Given the description of an element on the screen output the (x, y) to click on. 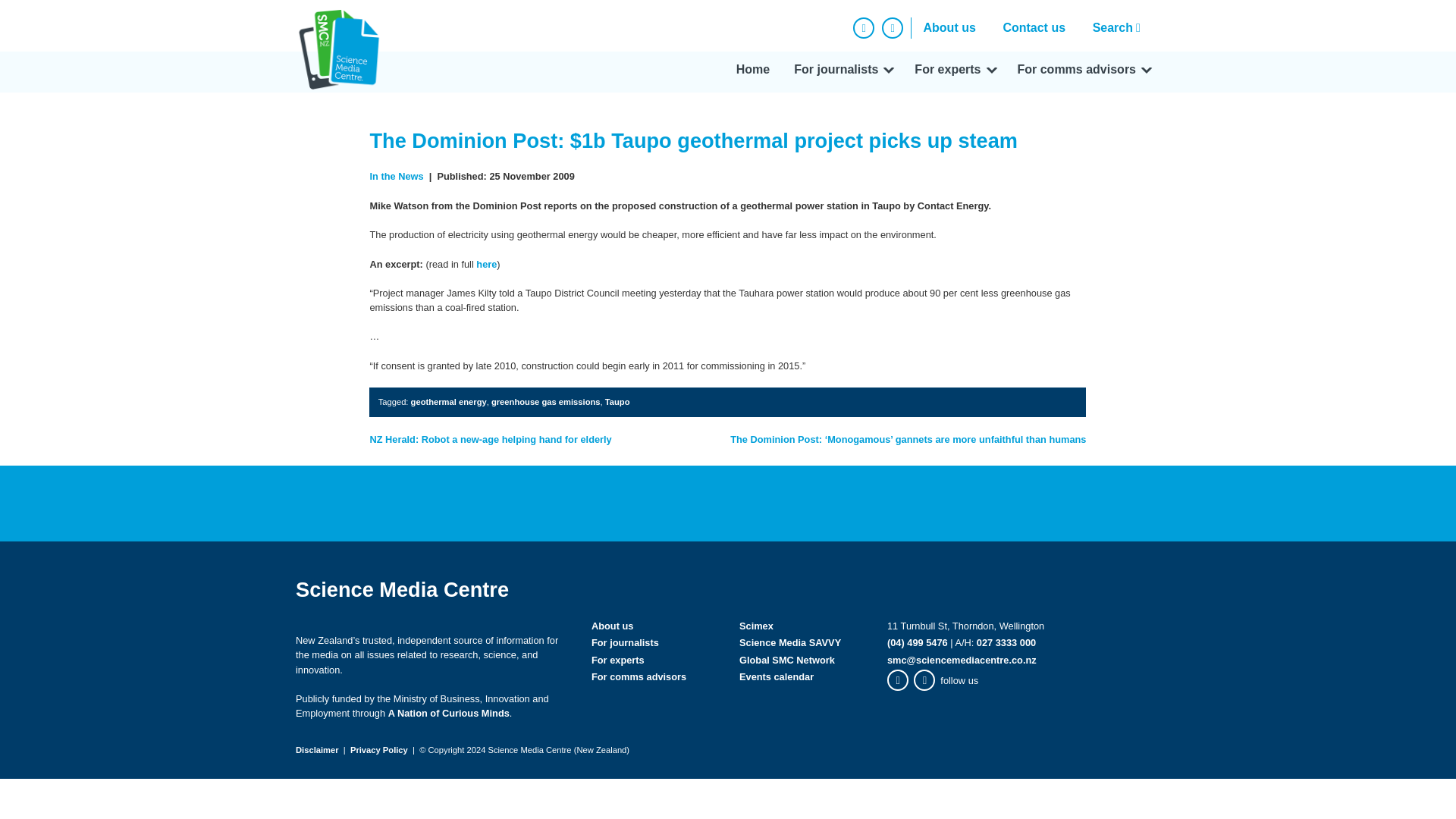
Search (1120, 27)
Twitter (892, 27)
For journalists (841, 71)
Contact us (1033, 27)
For experts (953, 71)
About us (949, 27)
Facebook (864, 27)
Home (752, 71)
For comms advisors (1083, 71)
